Given the description of an element on the screen output the (x, y) to click on. 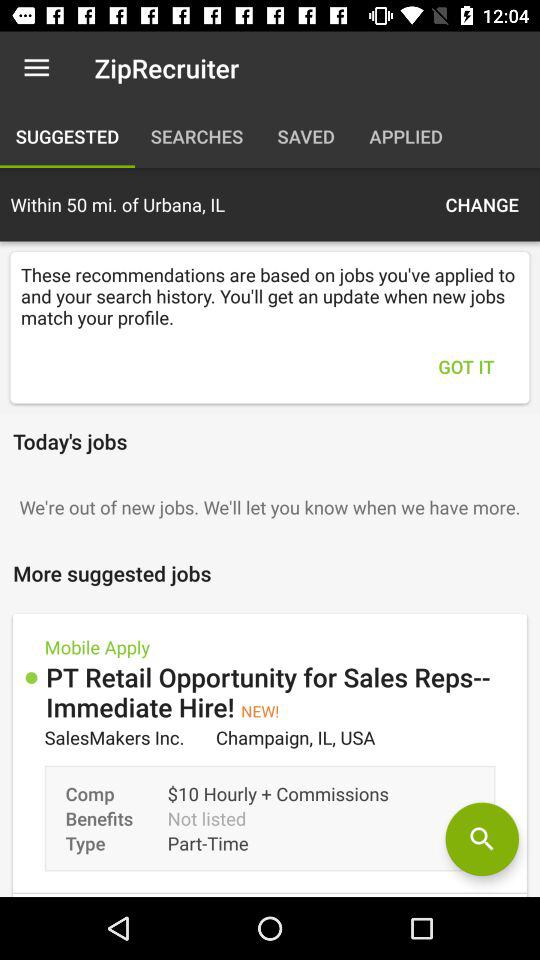
tap item above the these recommendations are icon (482, 204)
